Given the description of an element on the screen output the (x, y) to click on. 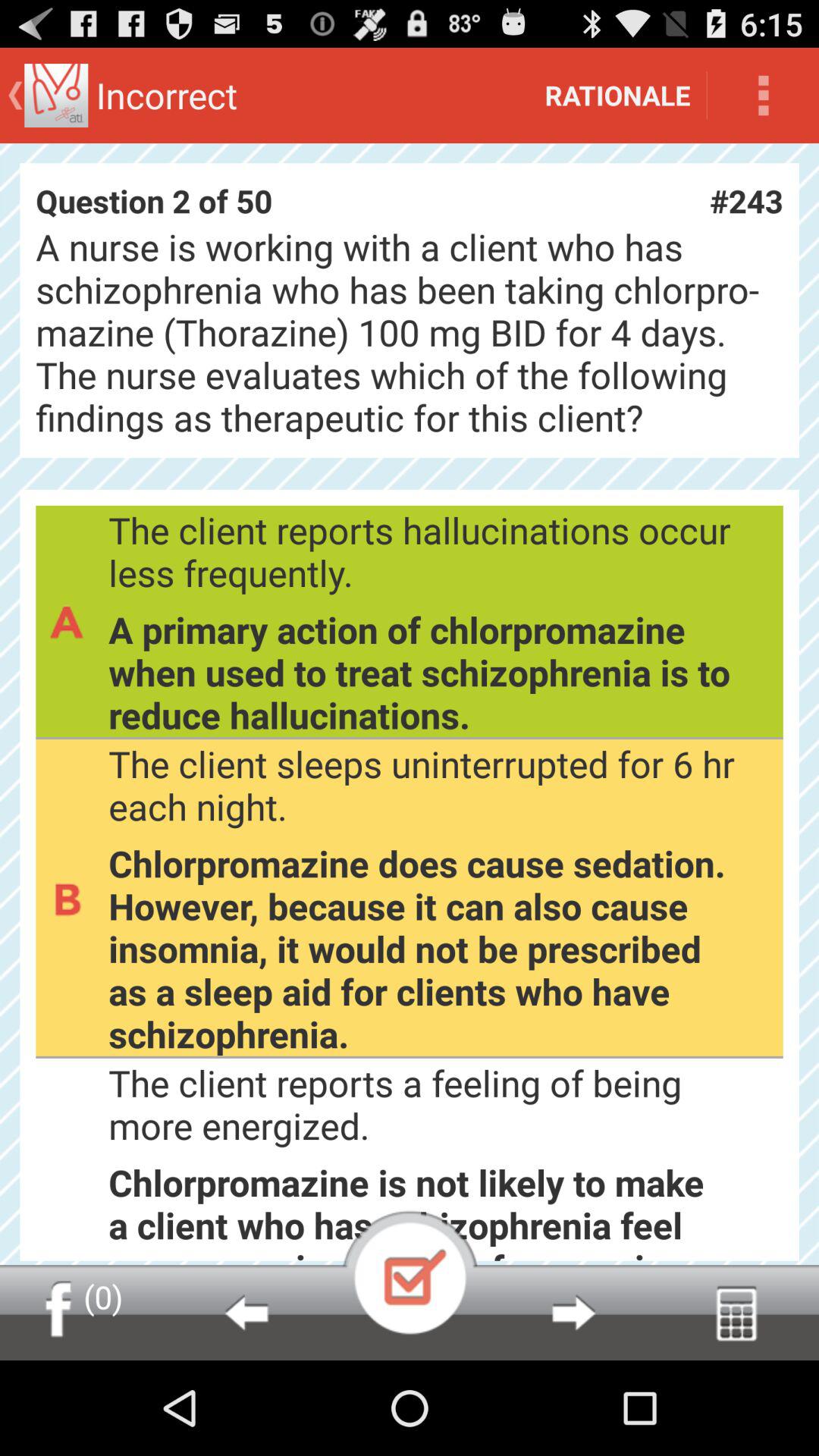
next (573, 1312)
